Given the description of an element on the screen output the (x, y) to click on. 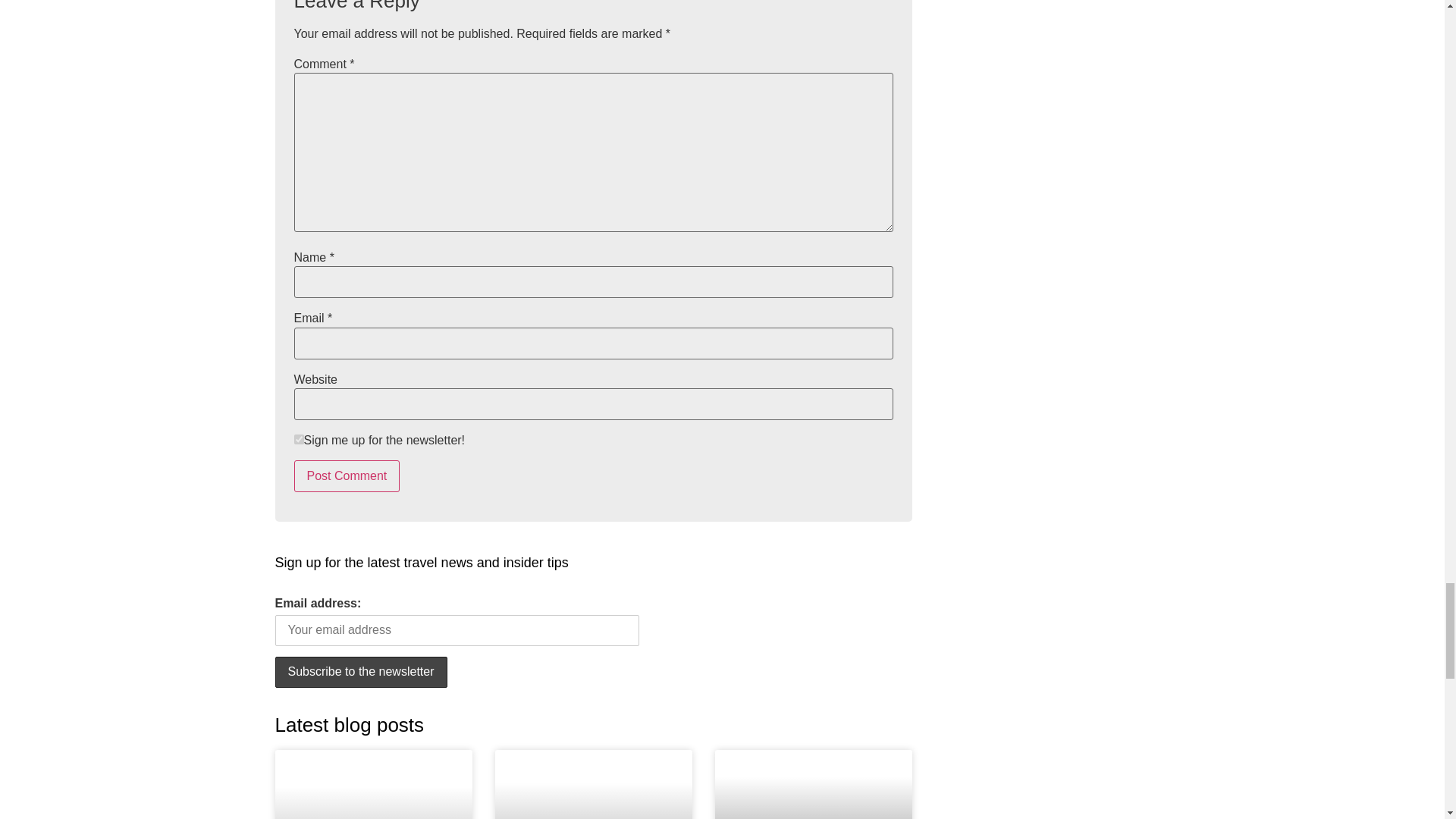
Post Comment (347, 476)
1 (299, 439)
Subscribe to the newsletter (360, 671)
